Given the description of an element on the screen output the (x, y) to click on. 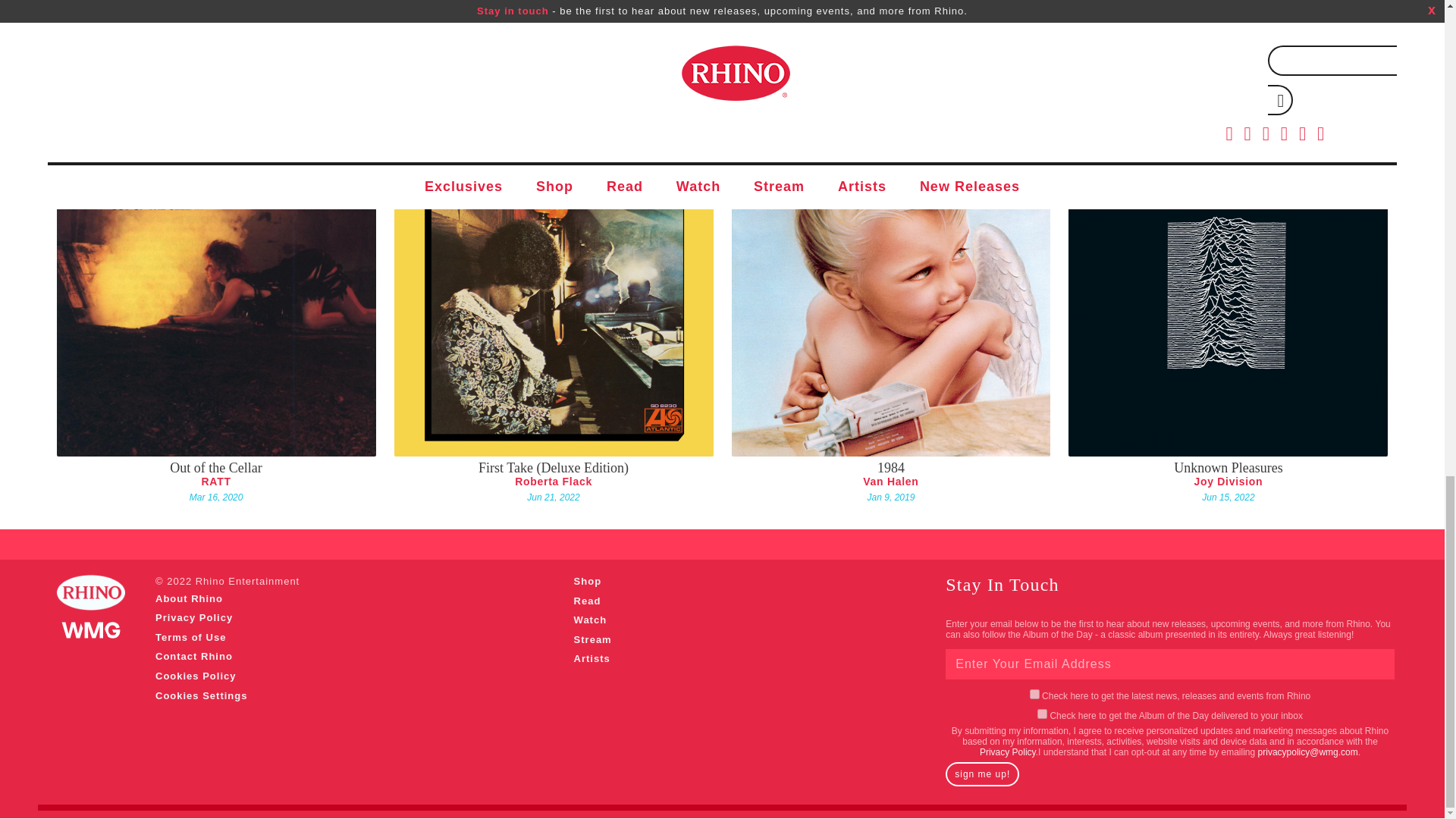
yes (1034, 694)
Follow link (1007, 751)
yes (1041, 714)
Sign Me Up! (981, 774)
